Given the description of an element on the screen output the (x, y) to click on. 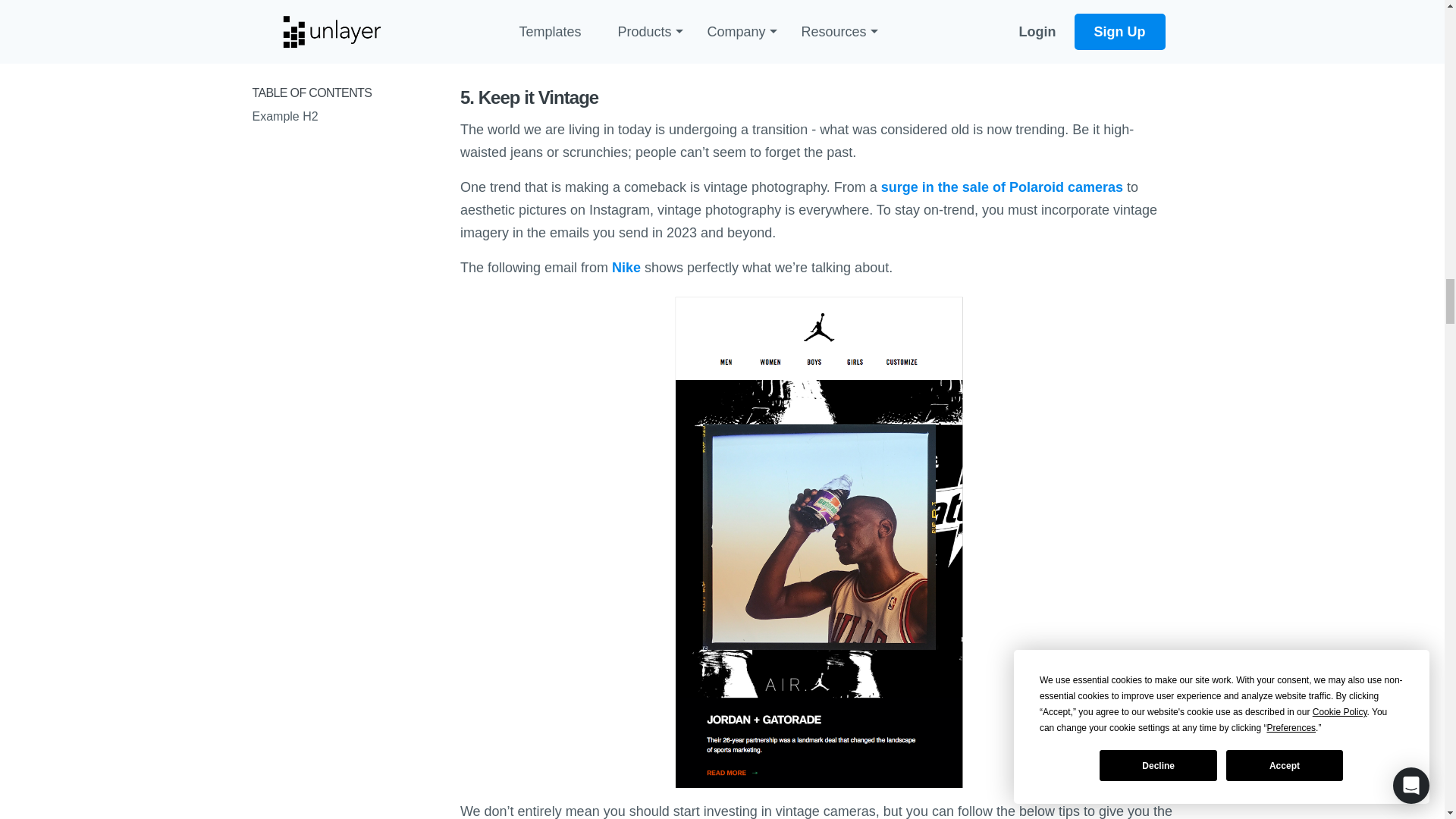
surge in the sale of Polaroid cameras (1001, 186)
Nike (625, 267)
